Given the description of an element on the screen output the (x, y) to click on. 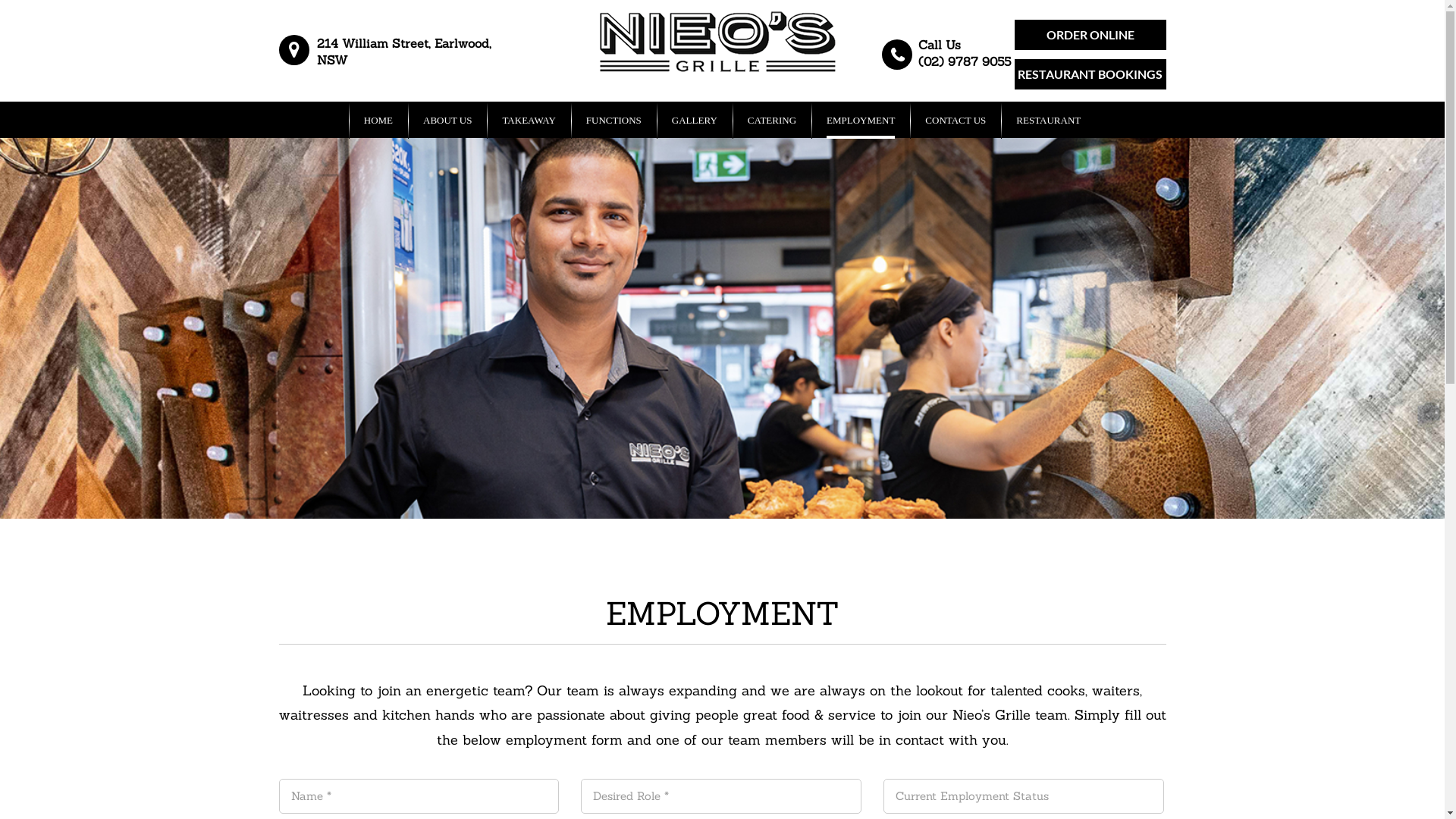
ABOUT US Element type: text (447, 120)
CATERING Element type: text (771, 120)
TAKEAWAY Element type: text (528, 120)
HOME Element type: text (378, 120)
EMPLOYMENT Element type: text (860, 120)
FUNCTIONS Element type: text (613, 120)
RESTAURANT BOOKINGS Element type: text (1090, 74)
(02) 9787 9055 Element type: text (964, 59)
ORDER ONLINE Element type: text (1090, 34)
GALLERY Element type: text (694, 120)
RESTAURANT Element type: text (1048, 120)
CONTACT US Element type: text (955, 120)
